Given the description of an element on the screen output the (x, y) to click on. 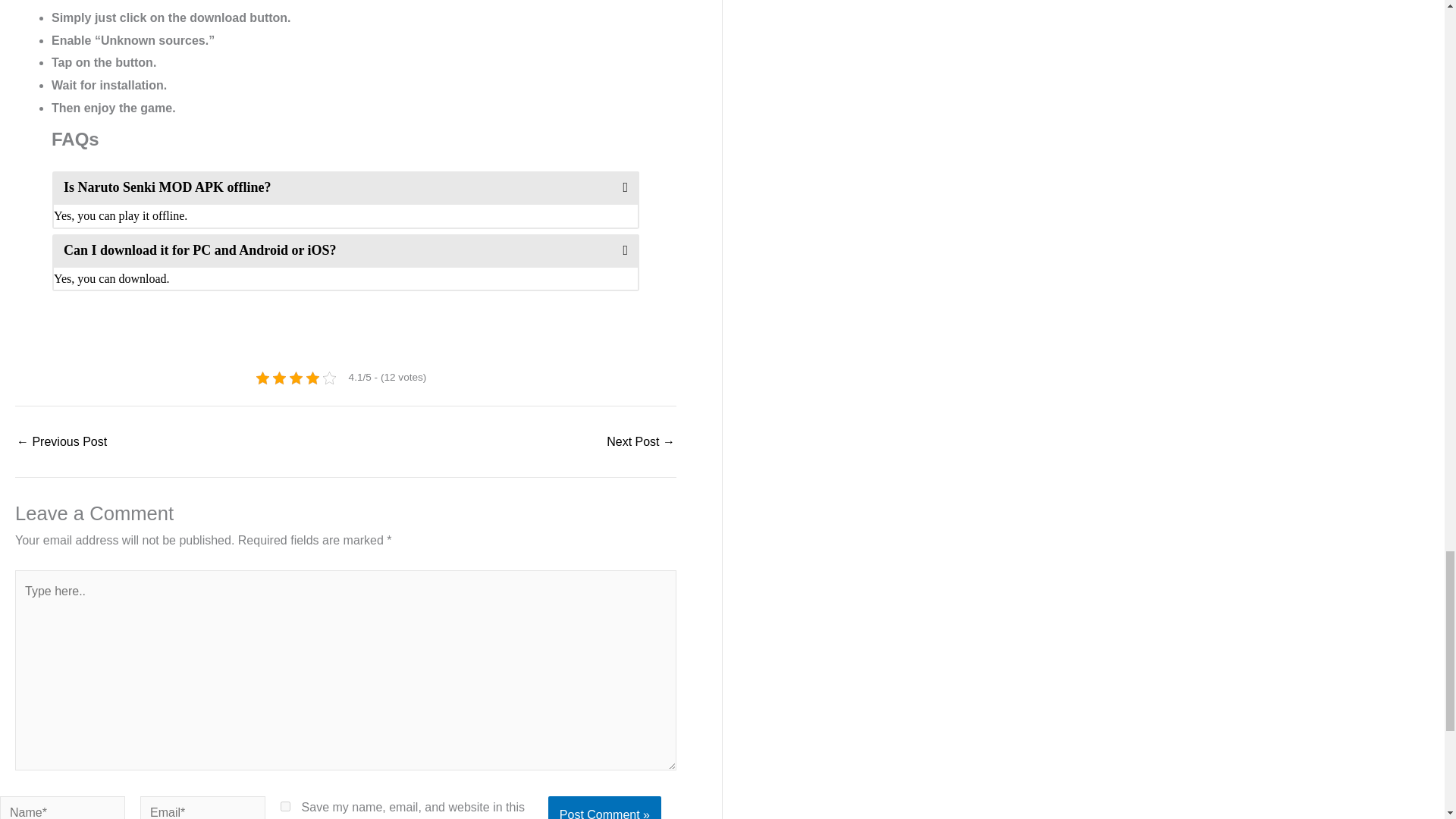
yes (285, 806)
Can I download it for PC and Android or iOS? (345, 250)
Is Naruto Senki MOD APK offline? (345, 187)
Mini Militia Unlimited Ammo (61, 441)
